Given the description of an element on the screen output the (x, y) to click on. 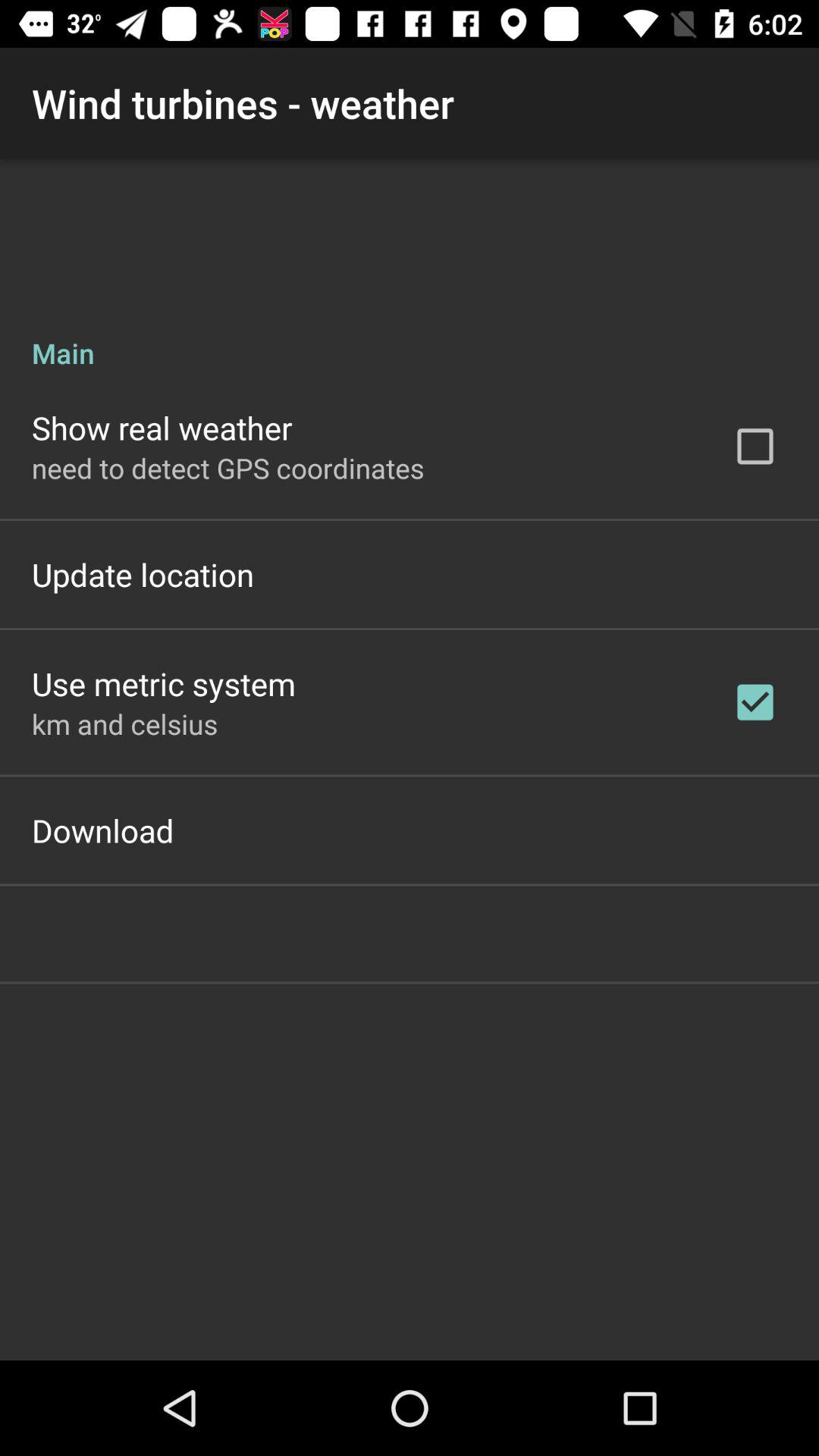
choose icon above the update location app (227, 467)
